Given the description of an element on the screen output the (x, y) to click on. 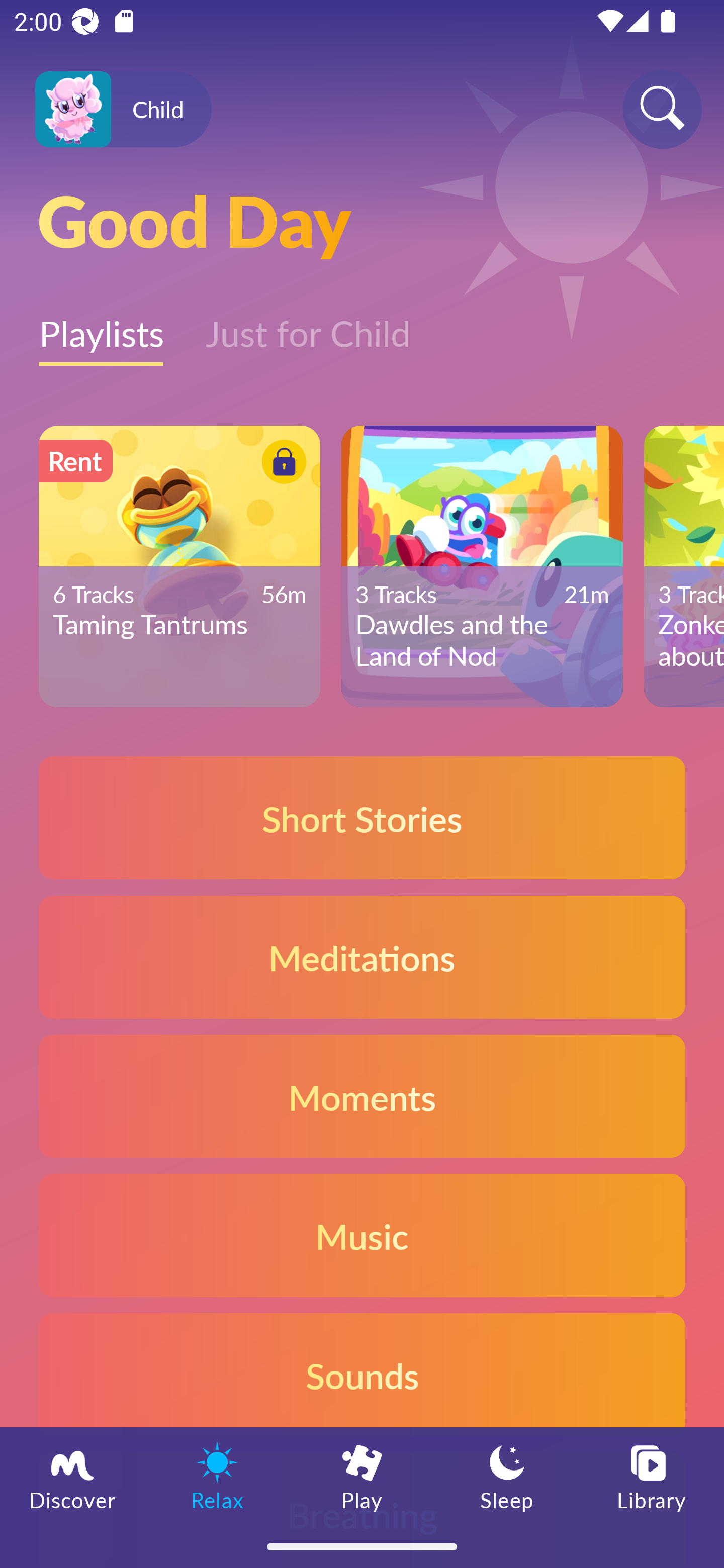
Profile icon Child (123, 109)
Just for Child (307, 322)
Button (280, 463)
Short Stories (361, 817)
Meditations (361, 957)
Moments (361, 1096)
Music (361, 1234)
Sounds (361, 1374)
Discover (72, 1475)
Play (361, 1475)
Sleep (506, 1475)
Library (651, 1475)
